Given the description of an element on the screen output the (x, y) to click on. 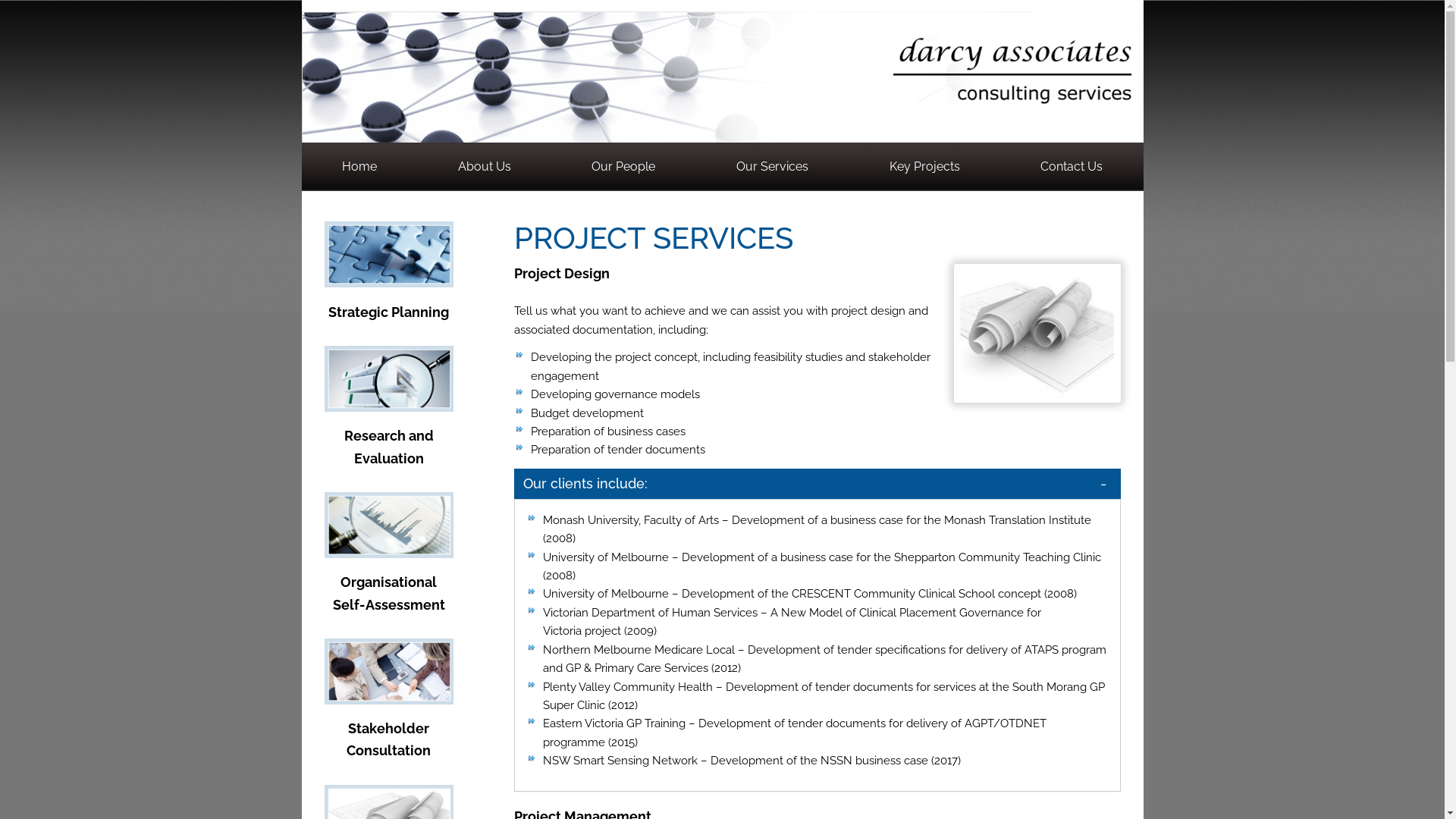
Home Element type: text (359, 166)
Contact Us Element type: text (1071, 166)
About Us Element type: text (484, 166)
Our People Element type: text (623, 166)
Our Services Element type: text (772, 166)
Key Projects Element type: text (924, 166)
Our clients include: Element type: text (817, 483)
